Given the description of an element on the screen output the (x, y) to click on. 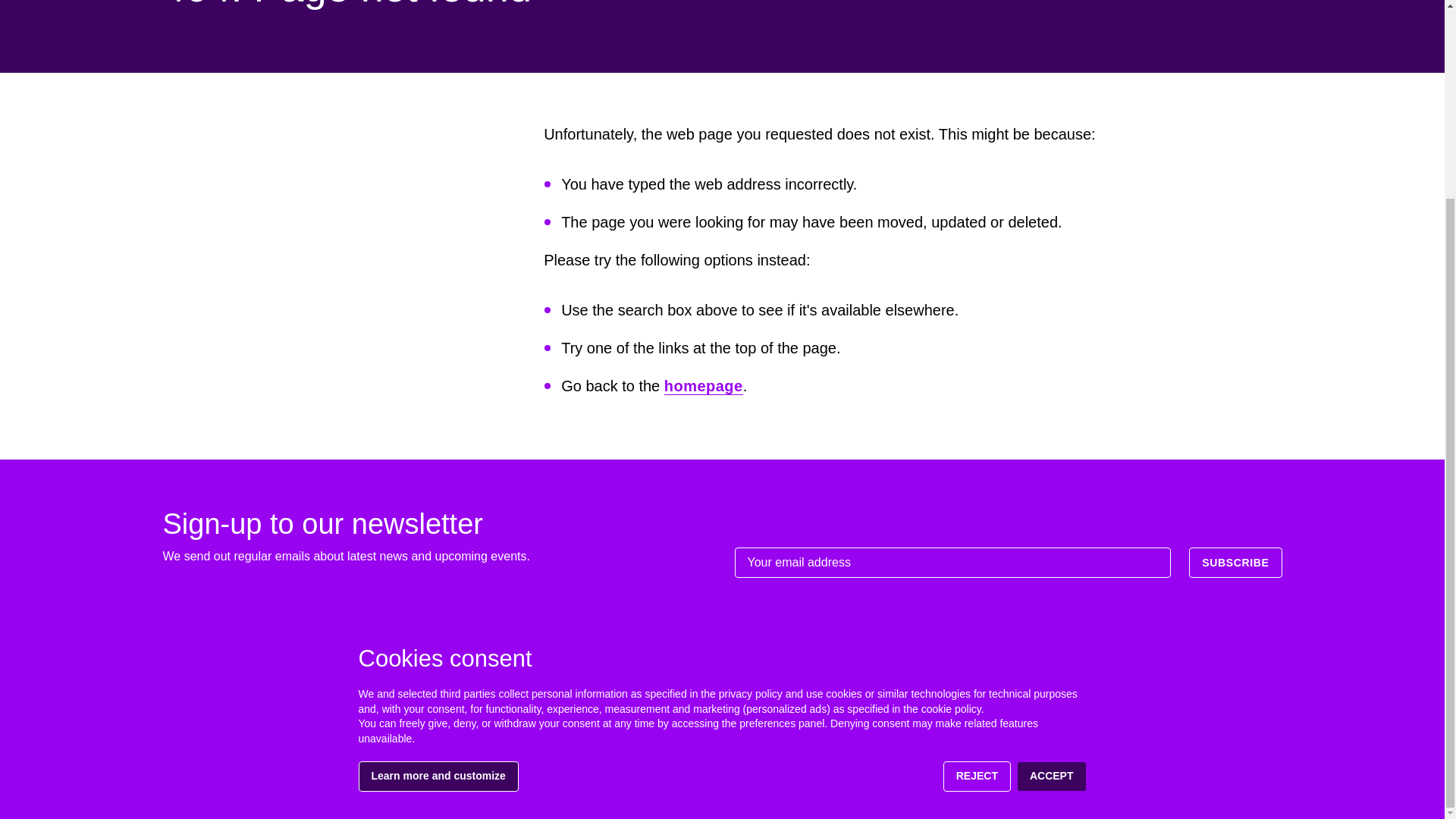
LinkedIn (1178, 770)
homepage (702, 385)
Cookie Policy  (1245, 712)
Twitter (1147, 770)
Instagram (1269, 770)
Privacy Policy  (1158, 712)
SUBSCRIBE (1235, 562)
YouTube (1208, 770)
Facebook (1238, 770)
Go to homepage (230, 690)
